Given the description of an element on the screen output the (x, y) to click on. 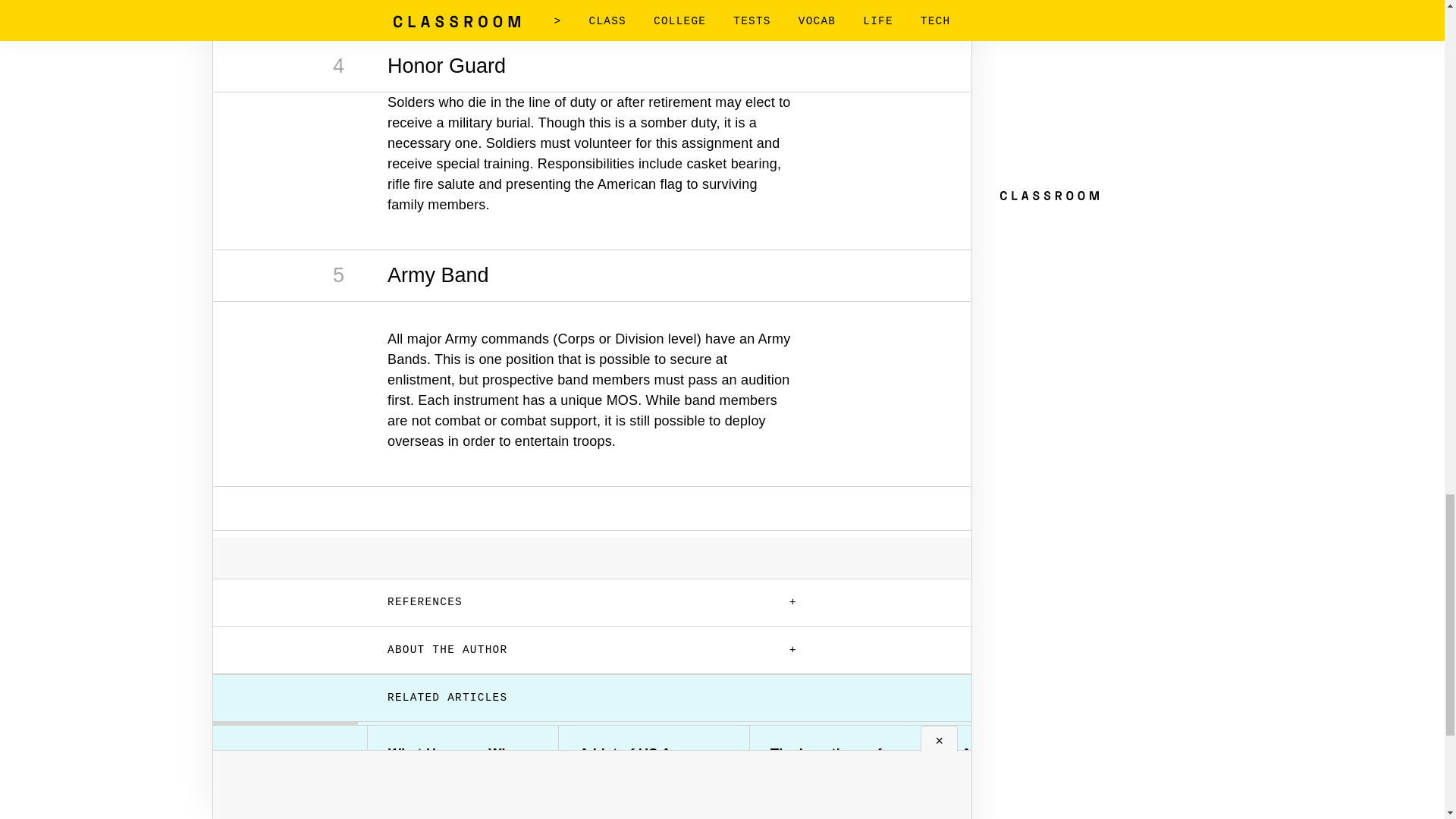
A List of US Army Basic Training Bases (654, 761)
The Locations of Army AIT Schools (844, 761)
What Happens When a Marine Is Sworn In? (1227, 761)
Army Basic Training Vs. Marine Bootcamp (1035, 761)
What Happens When You Sign Up for the National Guard? (462, 769)
